Given the description of an element on the screen output the (x, y) to click on. 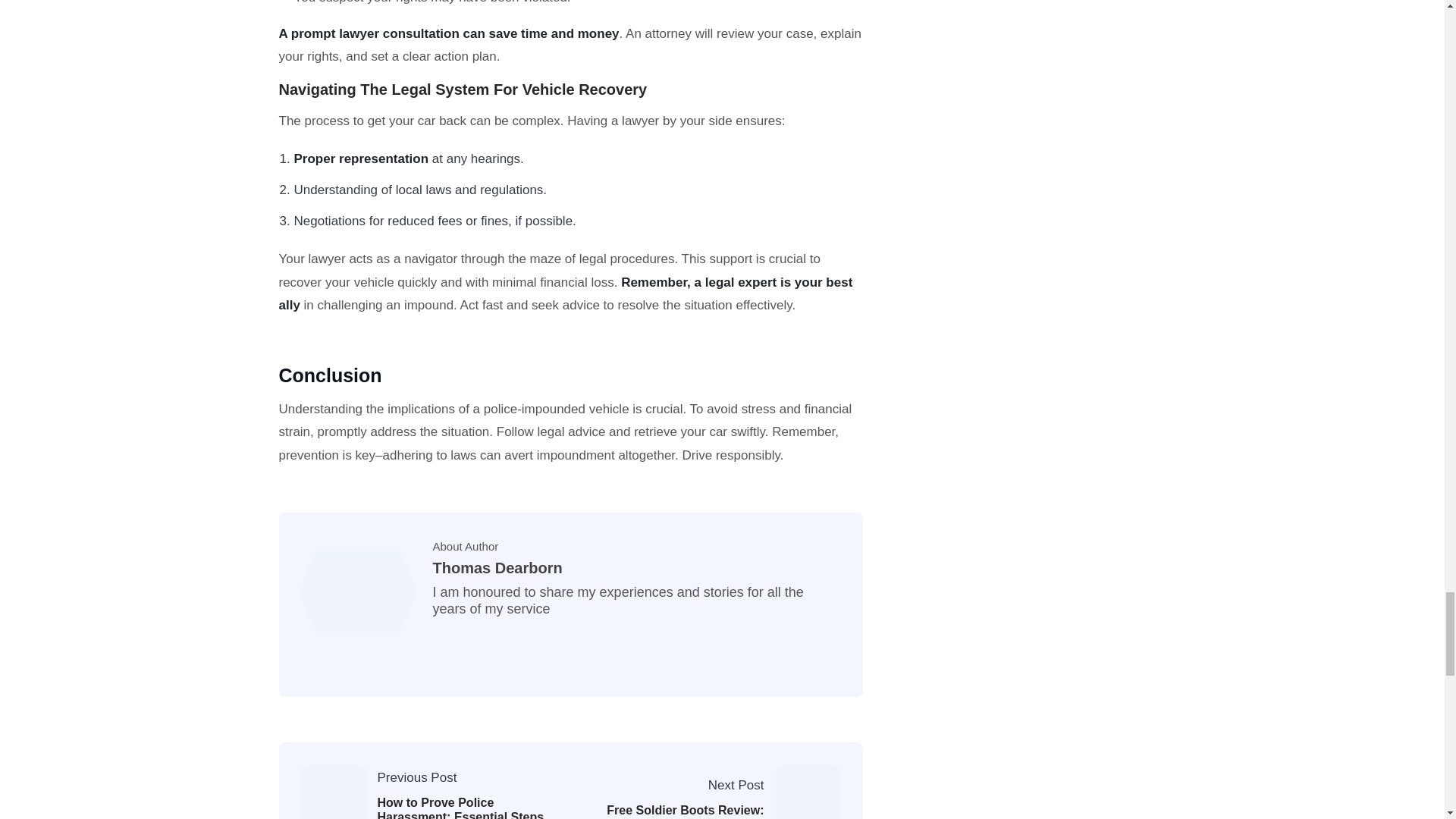
Free Soldier Boots Review: Unbeatable Durability Tested! (677, 811)
